Given the description of an element on the screen output the (x, y) to click on. 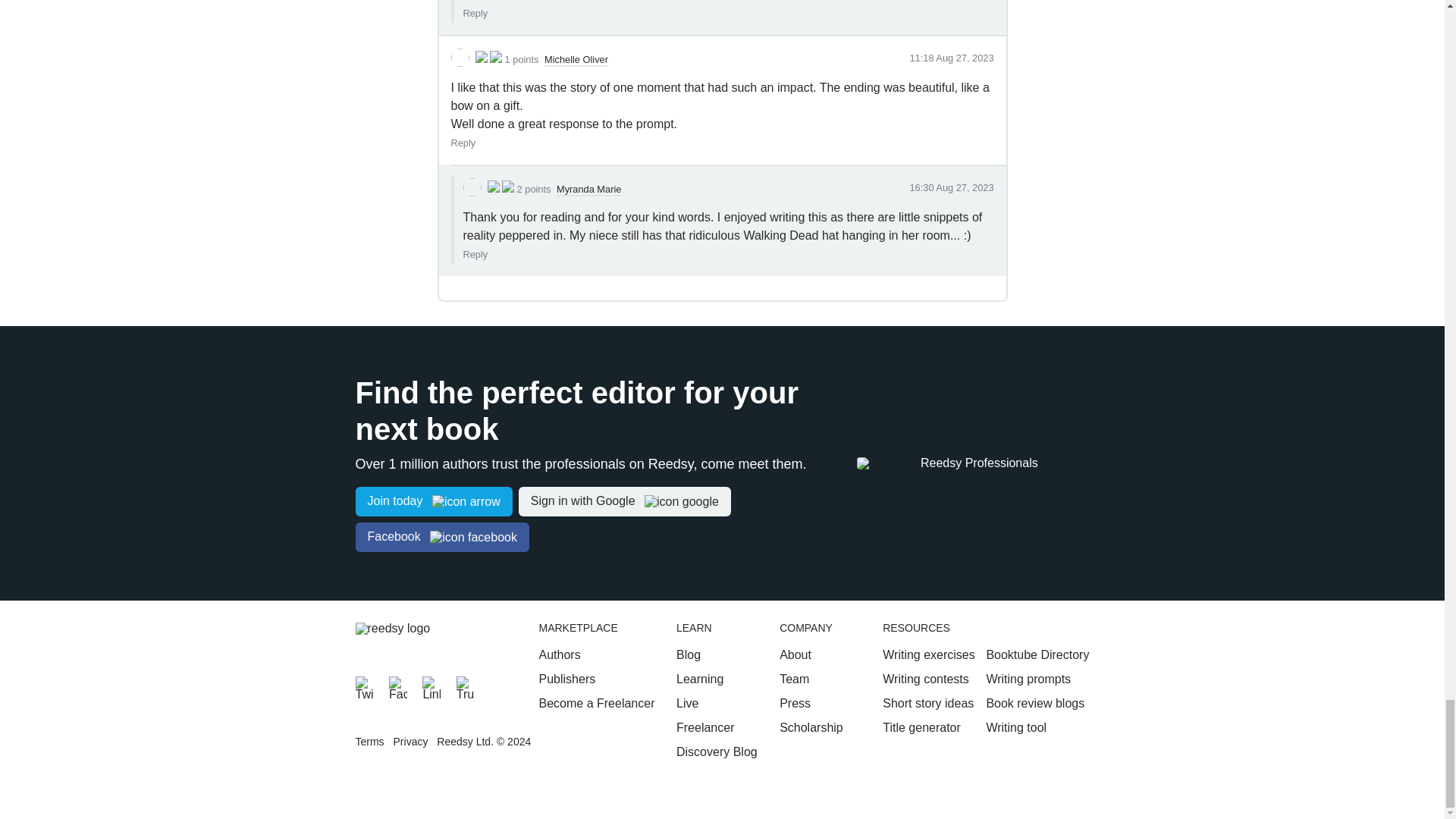
Sign up (433, 501)
Facebook (397, 685)
Trustpilot (465, 685)
Twitter (363, 685)
LinkedIn (431, 685)
Sign in with Facebook (441, 537)
Sign in with Google (624, 501)
